Given the description of an element on the screen output the (x, y) to click on. 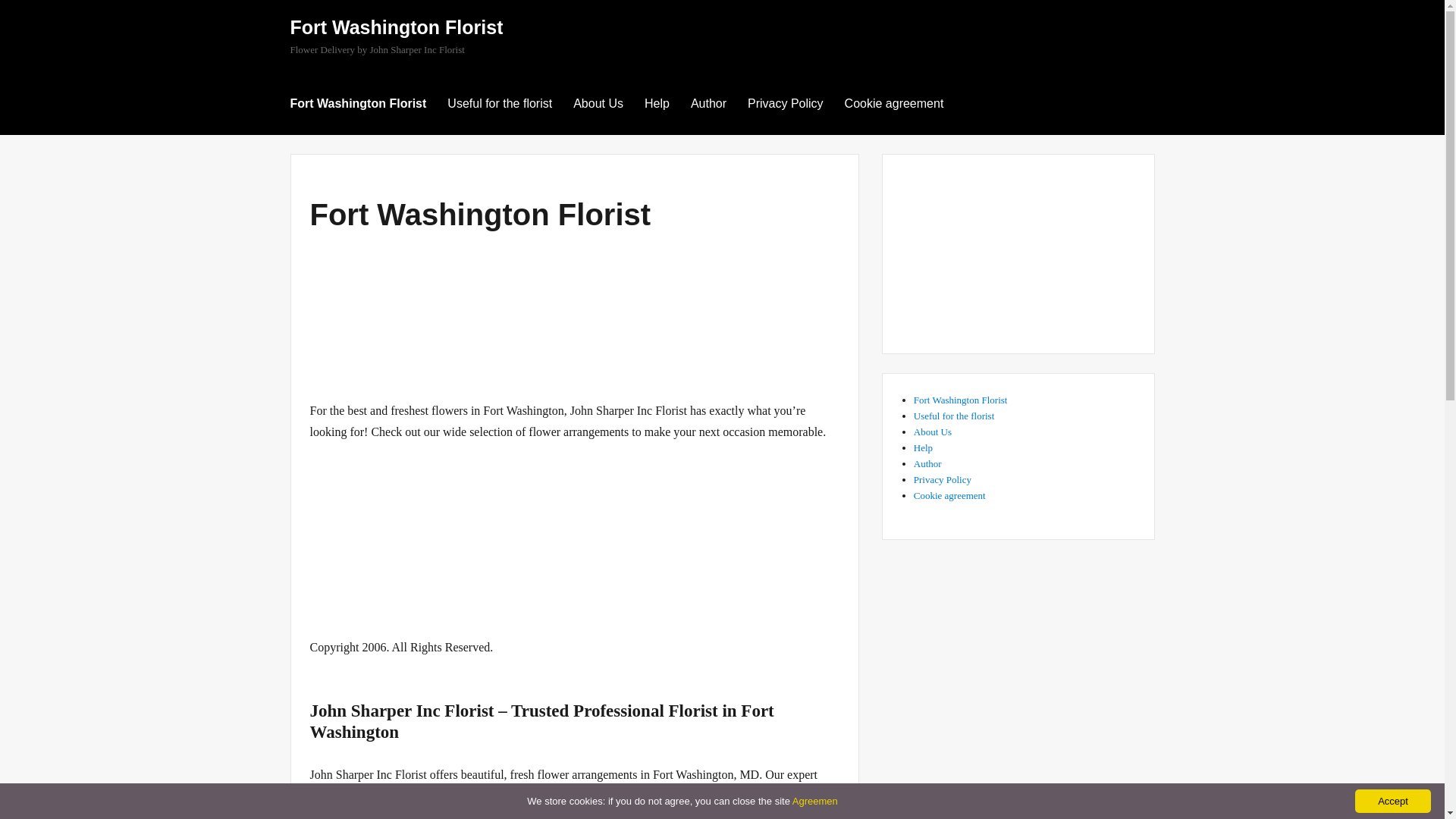
Fort Washington Florist (960, 399)
Privacy Policy (785, 102)
Privacy Policy (942, 479)
Useful for the florist (954, 415)
About Us (933, 431)
Author (707, 102)
Help (656, 102)
Help (923, 447)
Cookie agreement (894, 102)
Fort Washington Florist (357, 102)
